Given the description of an element on the screen output the (x, y) to click on. 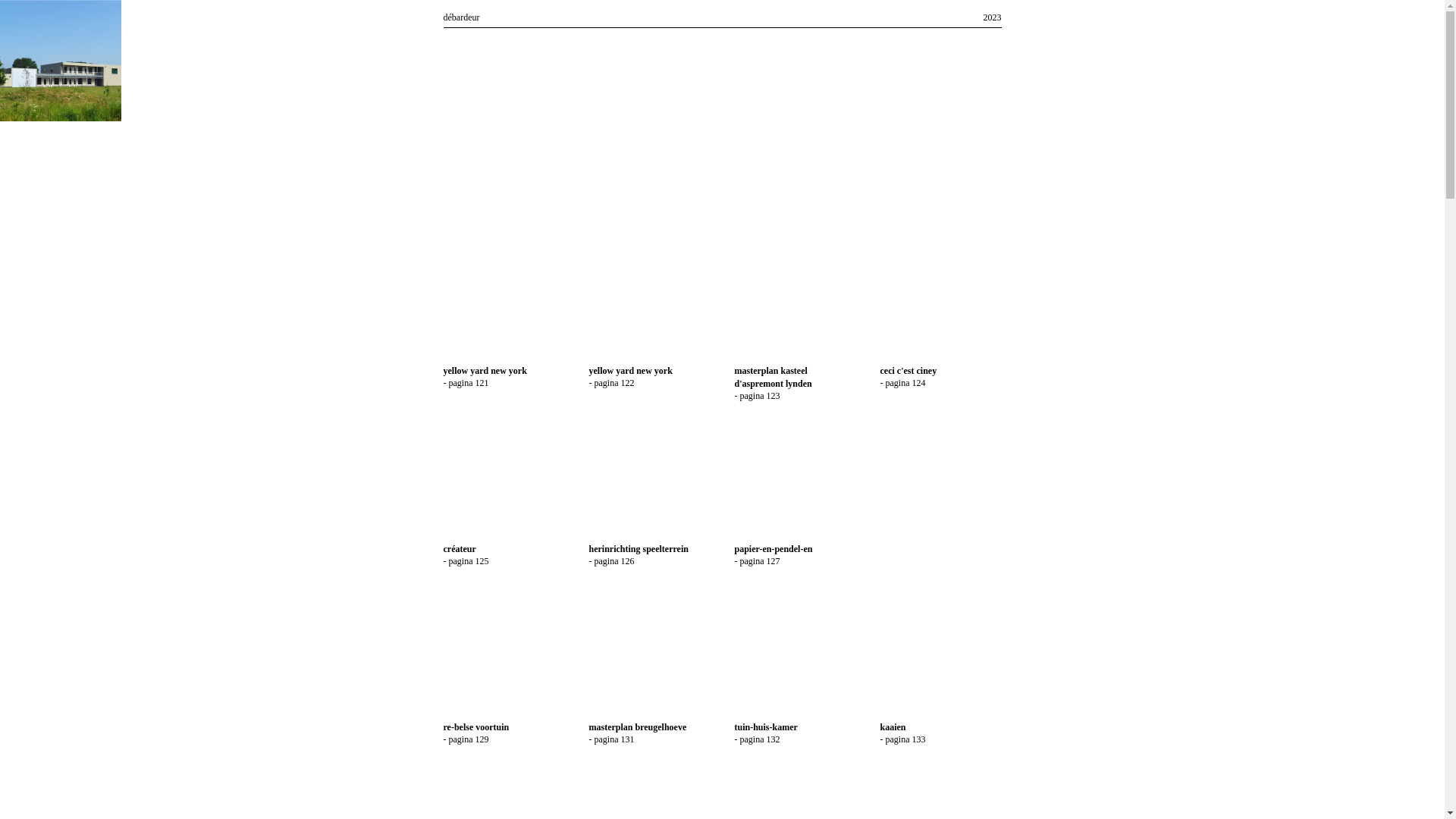
- pagina 127 Element type: text (756, 560)
herinrichting speelterrein Element type: text (637, 548)
tuin-huis-kamer Element type: text (765, 726)
ceci c'est ciney Element type: text (907, 370)
masterplan breugelhoeve Element type: text (637, 726)
yellow yard new york Element type: text (629, 370)
- pagina 126 Element type: text (610, 560)
- pagina 133 Element type: text (902, 739)
- pagina 123 Element type: text (756, 395)
- pagina 125 Element type: text (465, 560)
- pagina 132 Element type: text (756, 739)
masterplan kasteel d'aspremont lynden Element type: text (772, 377)
kaaien Element type: text (892, 726)
- pagina 129 Element type: text (465, 739)
- pagina 124 Element type: text (902, 382)
papier-en-pendel-en Element type: text (773, 548)
- pagina 131 Element type: text (610, 739)
- pagina 122 Element type: text (610, 382)
yellow yard new york Element type: text (484, 370)
- pagina 121 Element type: text (465, 382)
re-belse voortuin Element type: text (475, 726)
2023 Element type: text (991, 17)
